Given the description of an element on the screen output the (x, y) to click on. 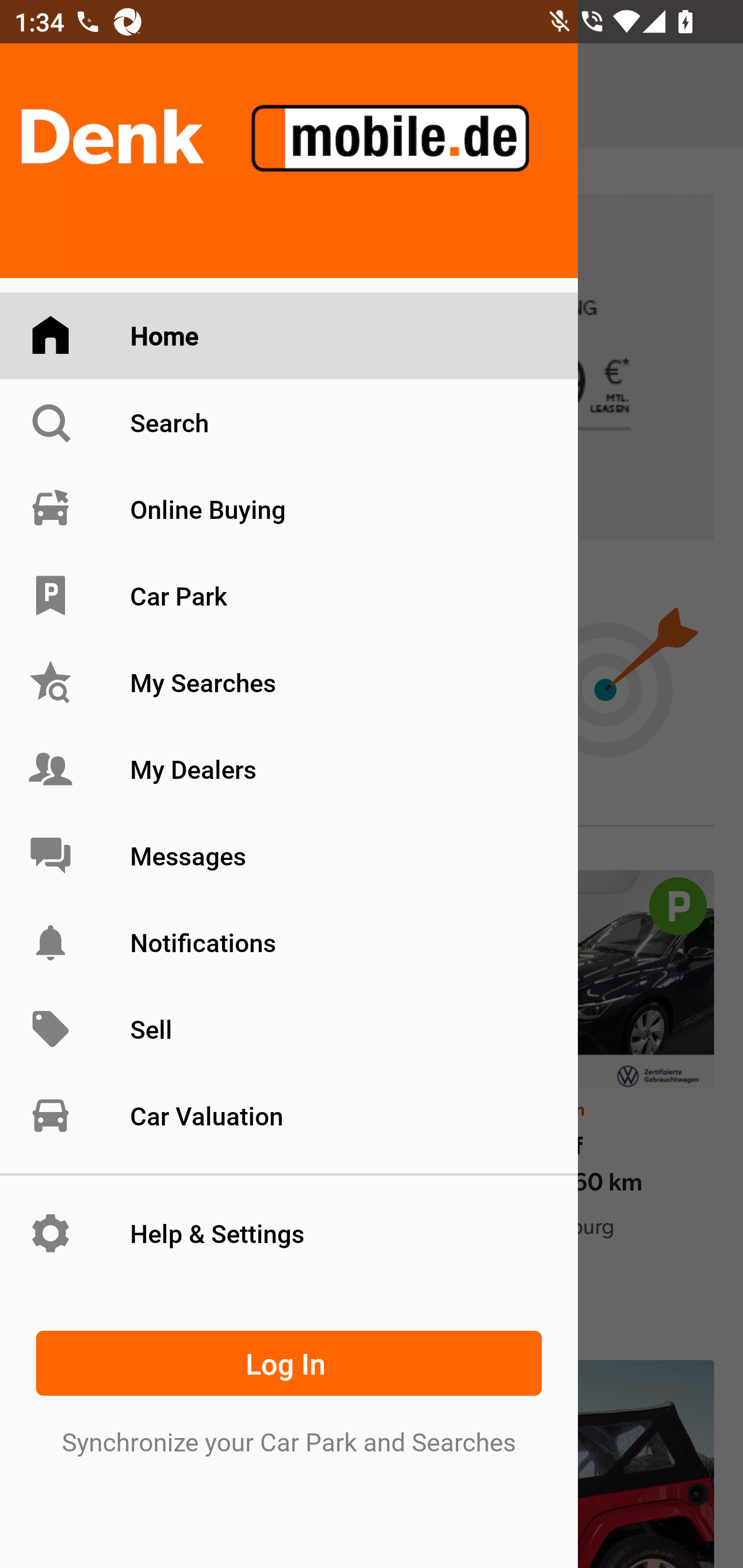
Home (289, 336)
Search (289, 422)
Online Buying (289, 508)
Car Park (289, 595)
My Searches (289, 682)
My Dealers (289, 768)
Messages (289, 855)
Notifications (289, 942)
Sell (289, 1029)
Car Valuation (289, 1115)
Help & Settings (289, 1233)
Log In Synchronize your Car Park and Searches (289, 1388)
Log In (288, 1363)
